Given the description of an element on the screen output the (x, y) to click on. 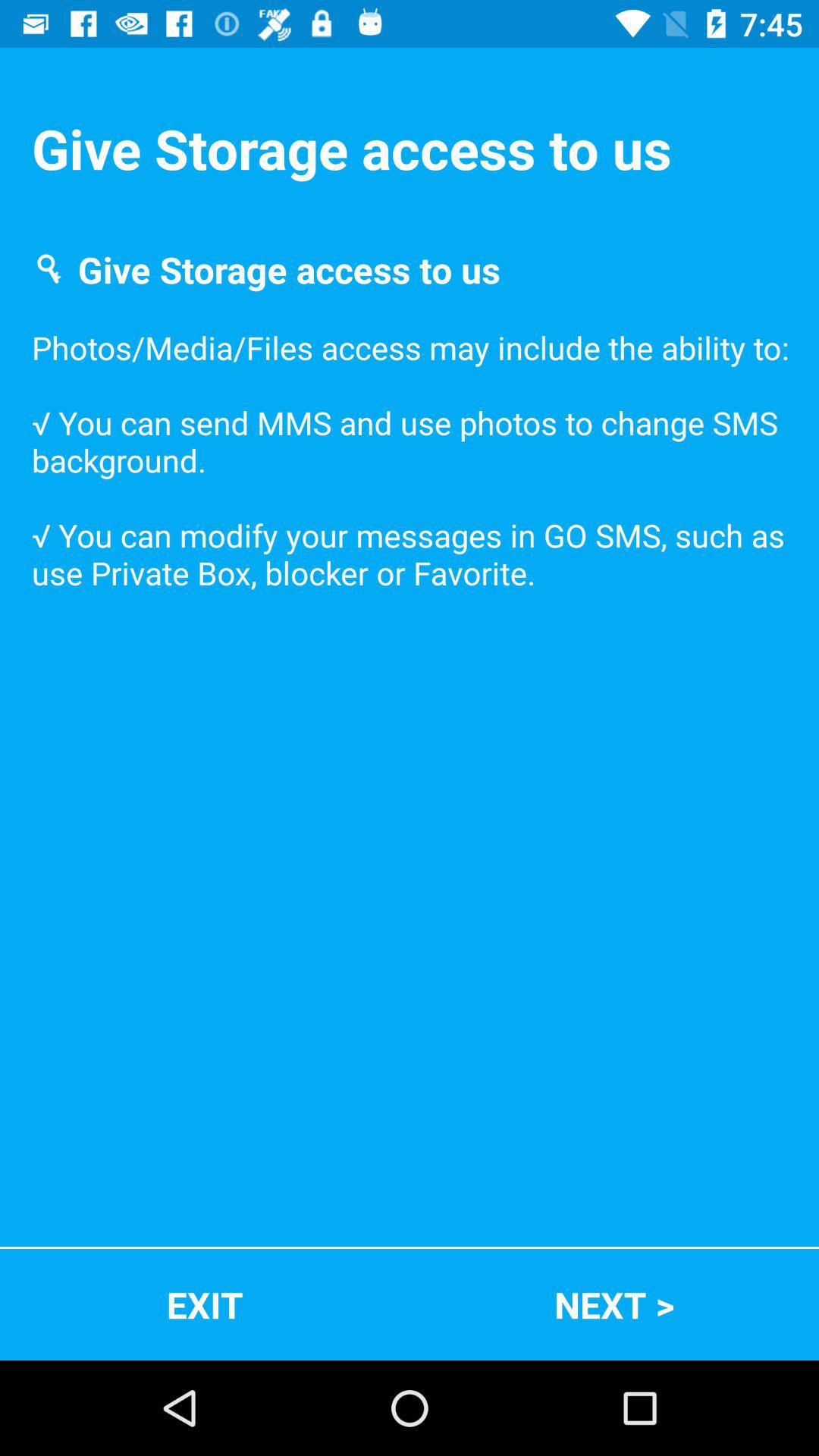
swipe to next > (614, 1304)
